Given the description of an element on the screen output the (x, y) to click on. 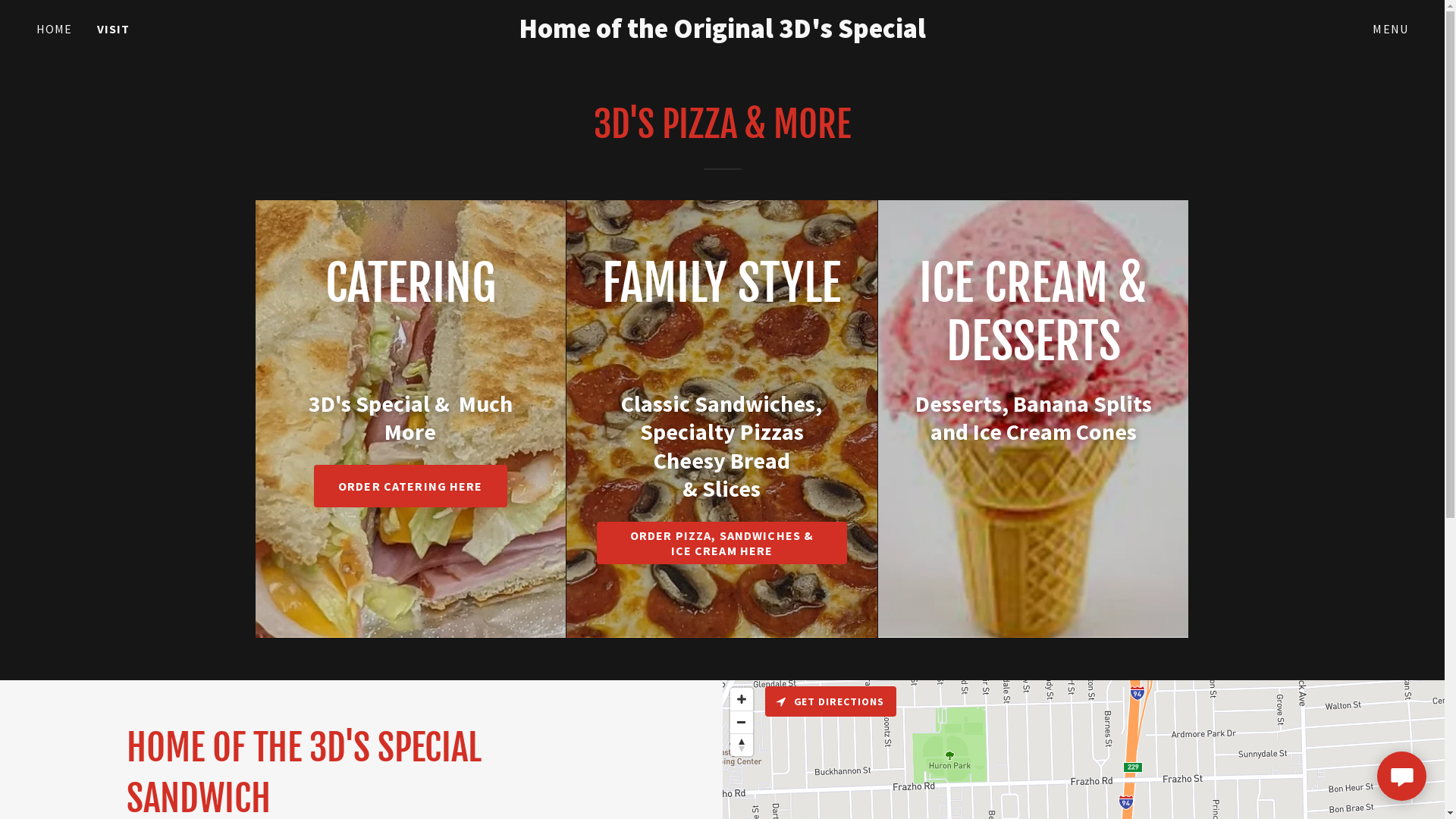
VISIT Element type: text (113, 28)
Reset bearing to north Element type: hover (740, 744)
GET DIRECTIONS Element type: text (830, 701)
ORDER PIZZA, SANDWICHES & ICE CREAM HERE Element type: text (721, 542)
Home of the Original 3D's Special Element type: text (721, 32)
Zoom in Element type: hover (740, 698)
MENU Element type: text (1390, 28)
Zoom out Element type: hover (740, 721)
ORDER CATERING HERE Element type: text (410, 485)
HOME Element type: text (54, 28)
